Given the description of an element on the screen output the (x, y) to click on. 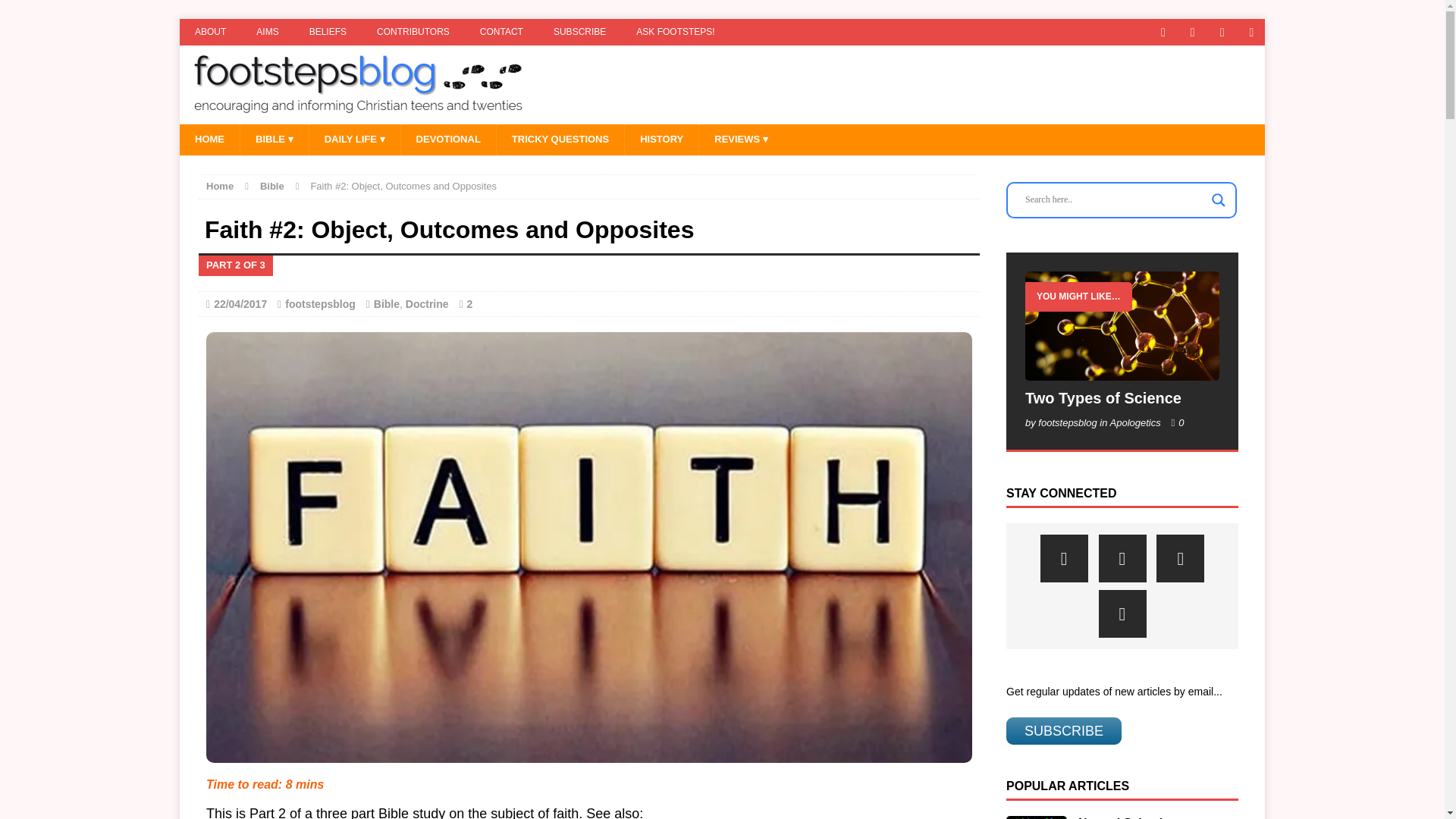
BIBLE (274, 139)
DEVOTIONAL (448, 139)
Footsteps Blog (722, 84)
ASK FOOTSTEPS! (675, 31)
Home (219, 185)
Doctrine (427, 304)
REVIEWS (740, 139)
HISTORY (661, 139)
TRICKY QUESTIONS (560, 139)
ABOUT (210, 31)
footstepsblog (320, 304)
CONTACT (501, 31)
CONTRIBUTORS (412, 31)
DAILY LIFE (354, 139)
